Given the description of an element on the screen output the (x, y) to click on. 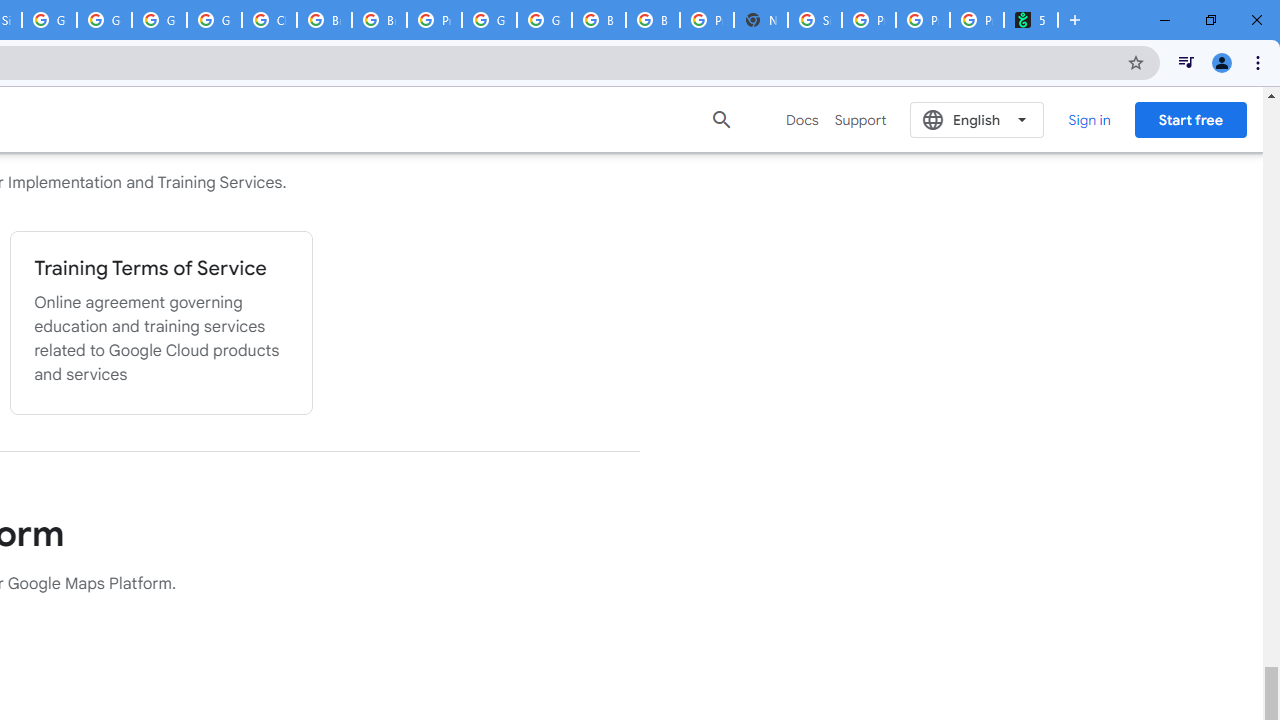
Start free (1190, 119)
Browse Chrome as a guest - Computer - Google Chrome Help (324, 20)
Browse Chrome as a guest - Computer - Google Chrome Help (598, 20)
Docs (802, 119)
Google Cloud Platform (158, 20)
